Given the description of an element on the screen output the (x, y) to click on. 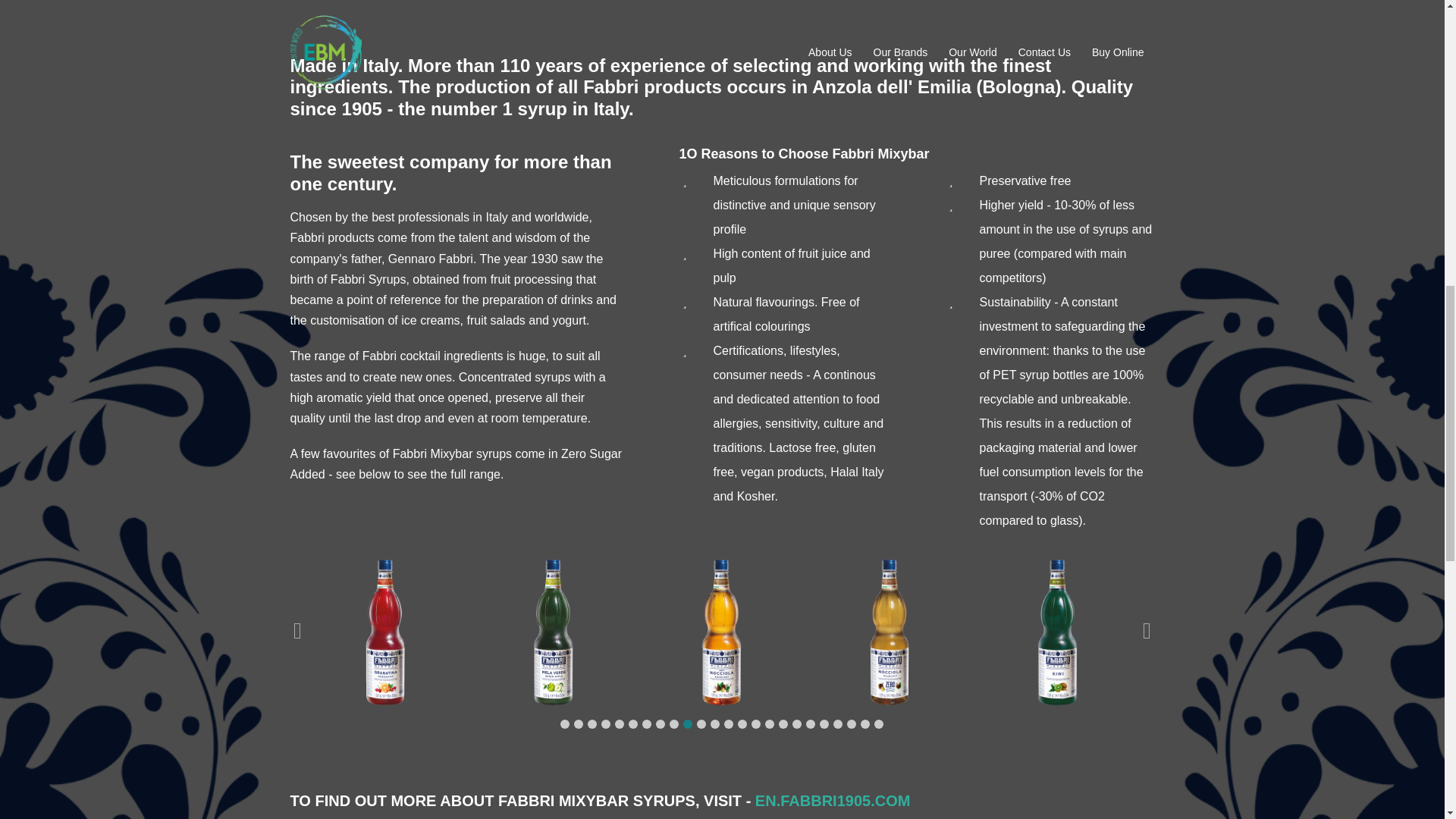
Fabbri-Mixybar-Granadine (384, 632)
EN.FABBRI1905.COM (833, 800)
